Given the description of an element on the screen output the (x, y) to click on. 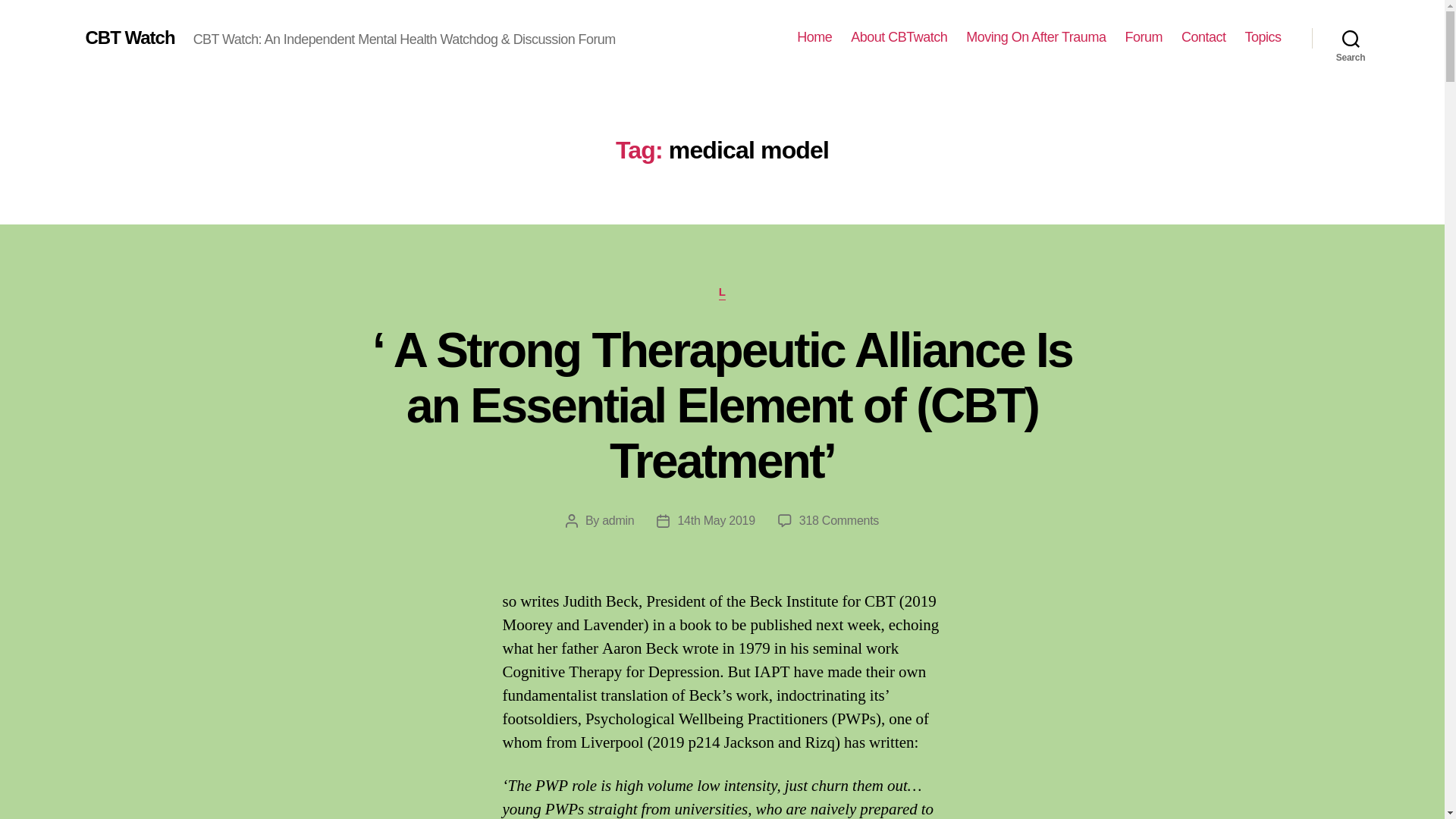
About CBTwatch (898, 37)
admin (617, 520)
Topics (1262, 37)
14th May 2019 (715, 520)
Forum (1142, 37)
Home (813, 37)
Moving On After Trauma (1035, 37)
Contact (1202, 37)
CBT Watch (129, 37)
Search (1350, 37)
